Given the description of an element on the screen output the (x, y) to click on. 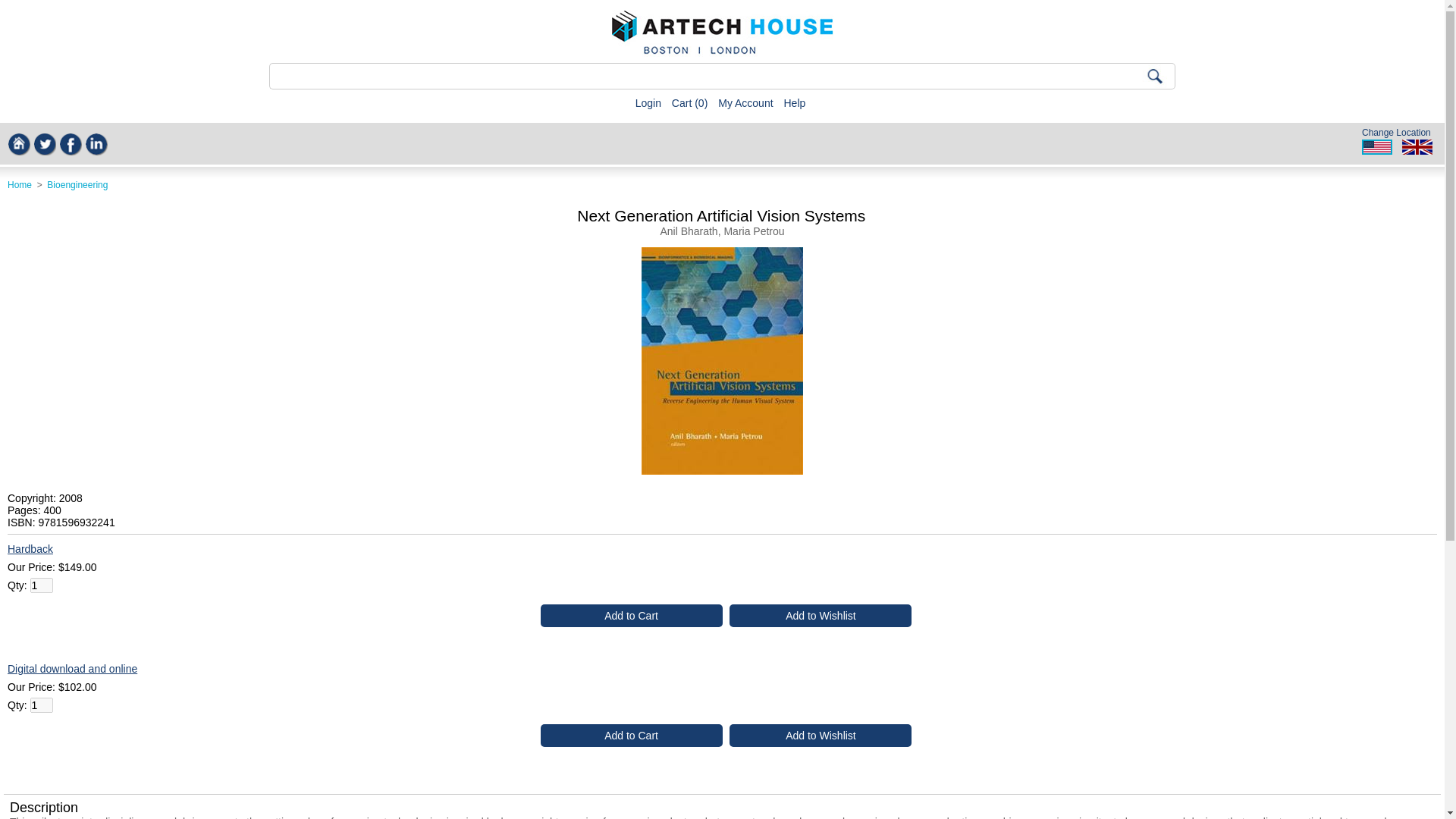
Hardback (29, 548)
Maria Petrou (753, 231)
Cart (682, 102)
Help (794, 102)
Next Generation Artificial Vision Systems (722, 470)
Add to Wishlist (820, 734)
1 (41, 704)
My Account (745, 102)
Bioengineering (76, 184)
Add to Wishlist (820, 615)
Login (647, 102)
Add to Wishlist (820, 615)
Anil Bharath (688, 231)
Add to Cart (631, 615)
Add to Cart (631, 615)
